Given the description of an element on the screen output the (x, y) to click on. 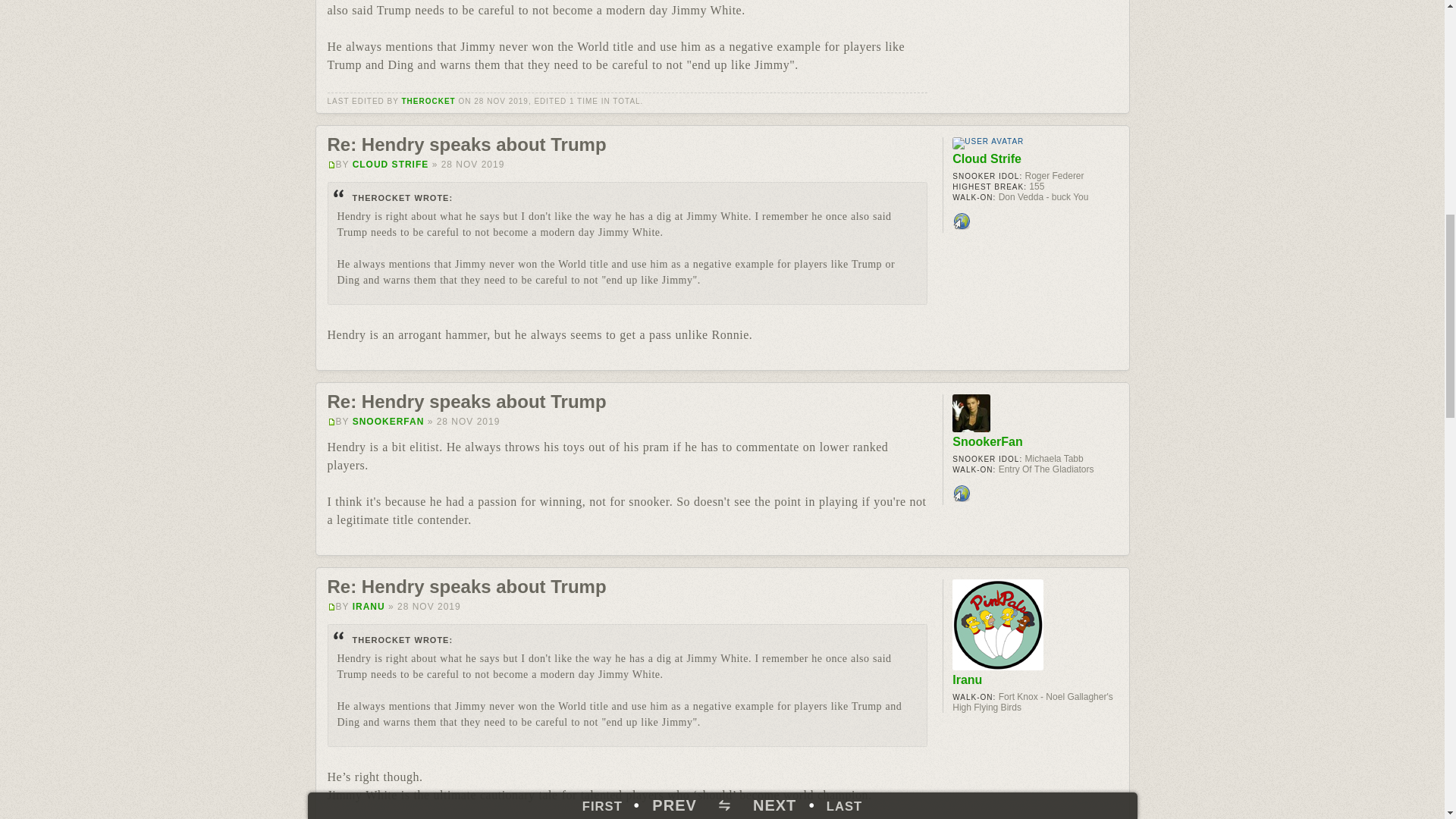
Post (331, 606)
Post (331, 164)
Post (331, 421)
